Given the description of an element on the screen output the (x, y) to click on. 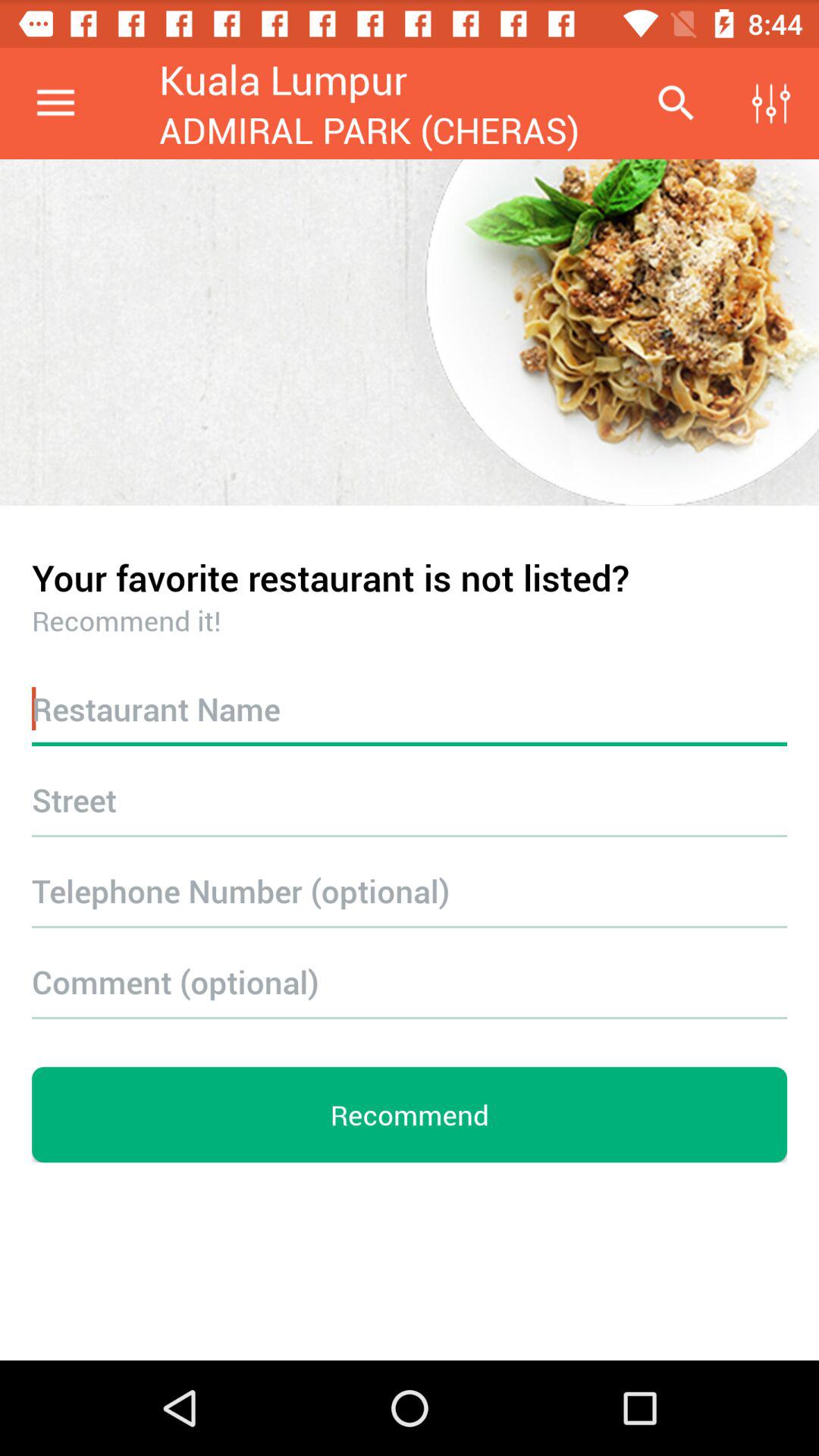
name (409, 708)
